Given the description of an element on the screen output the (x, y) to click on. 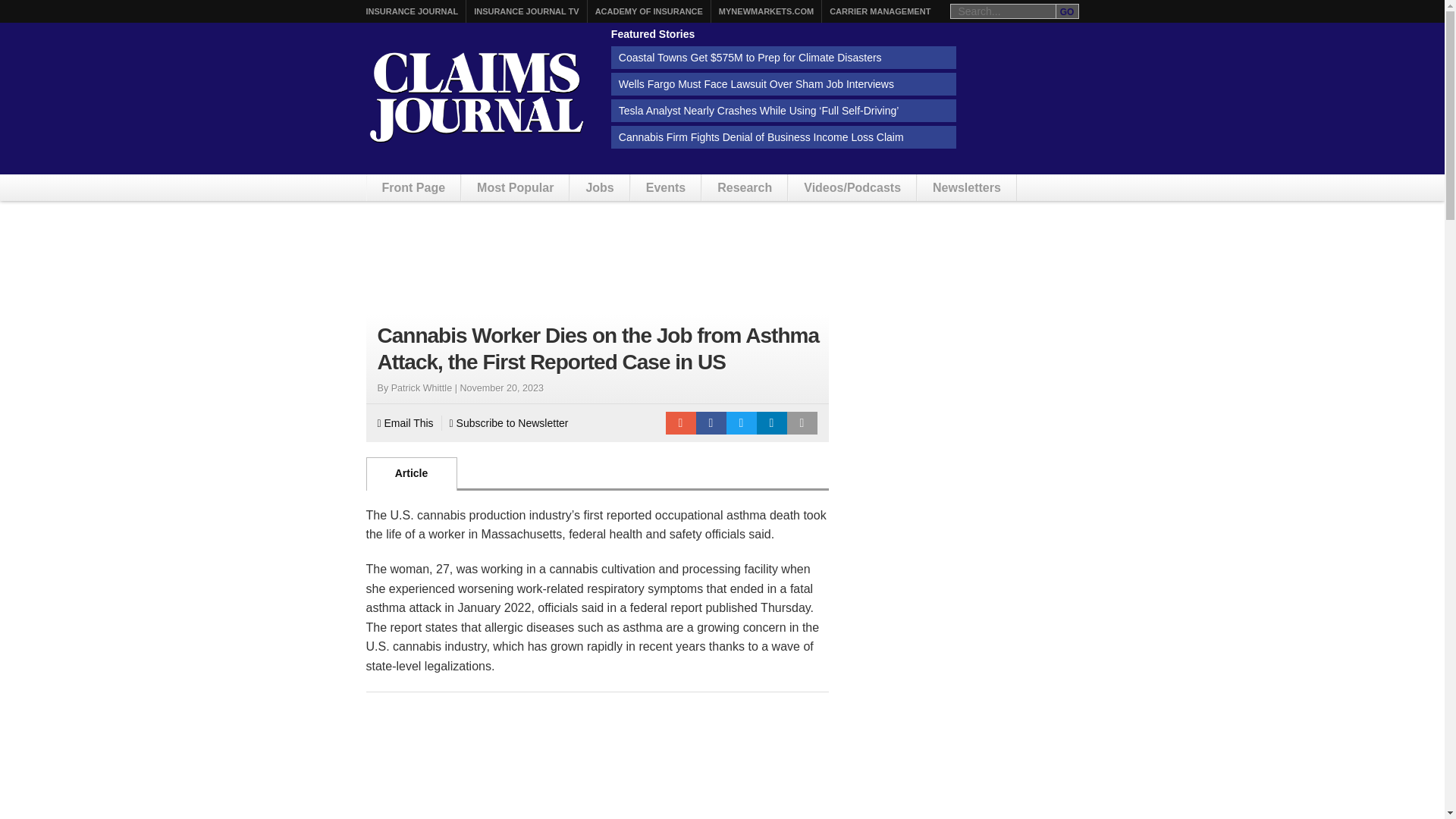
Newsletters (966, 187)
Facebook (710, 422)
Most Popular (515, 187)
LinkedIn (772, 422)
Go (1066, 11)
Article (411, 473)
Research (744, 187)
Post to Facebook. (710, 422)
ACADEMY OF INSURANCE (649, 11)
Subscribe to Newsletter (509, 422)
